Given the description of an element on the screen output the (x, y) to click on. 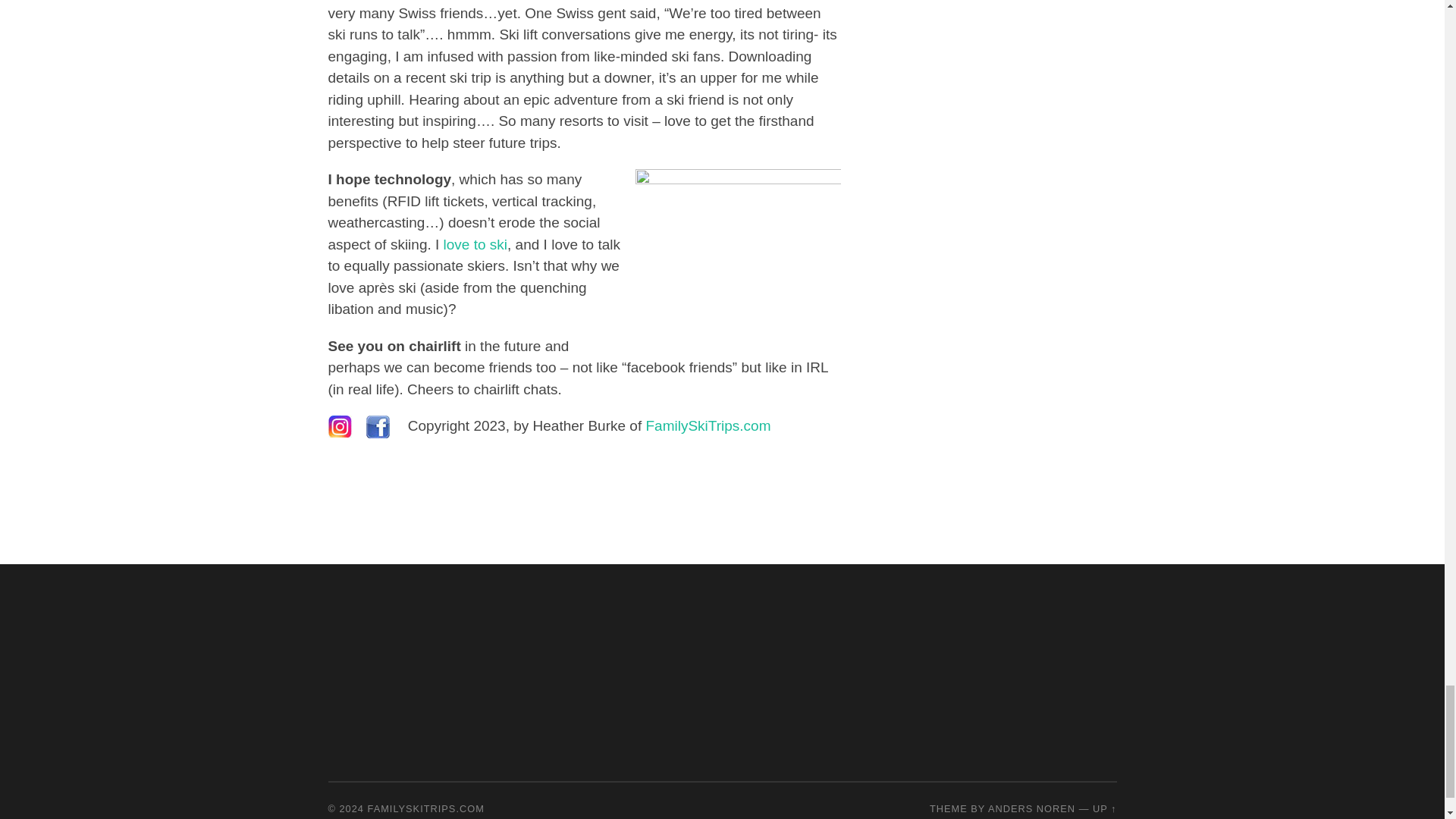
To the top (1104, 808)
